Given the description of an element on the screen output the (x, y) to click on. 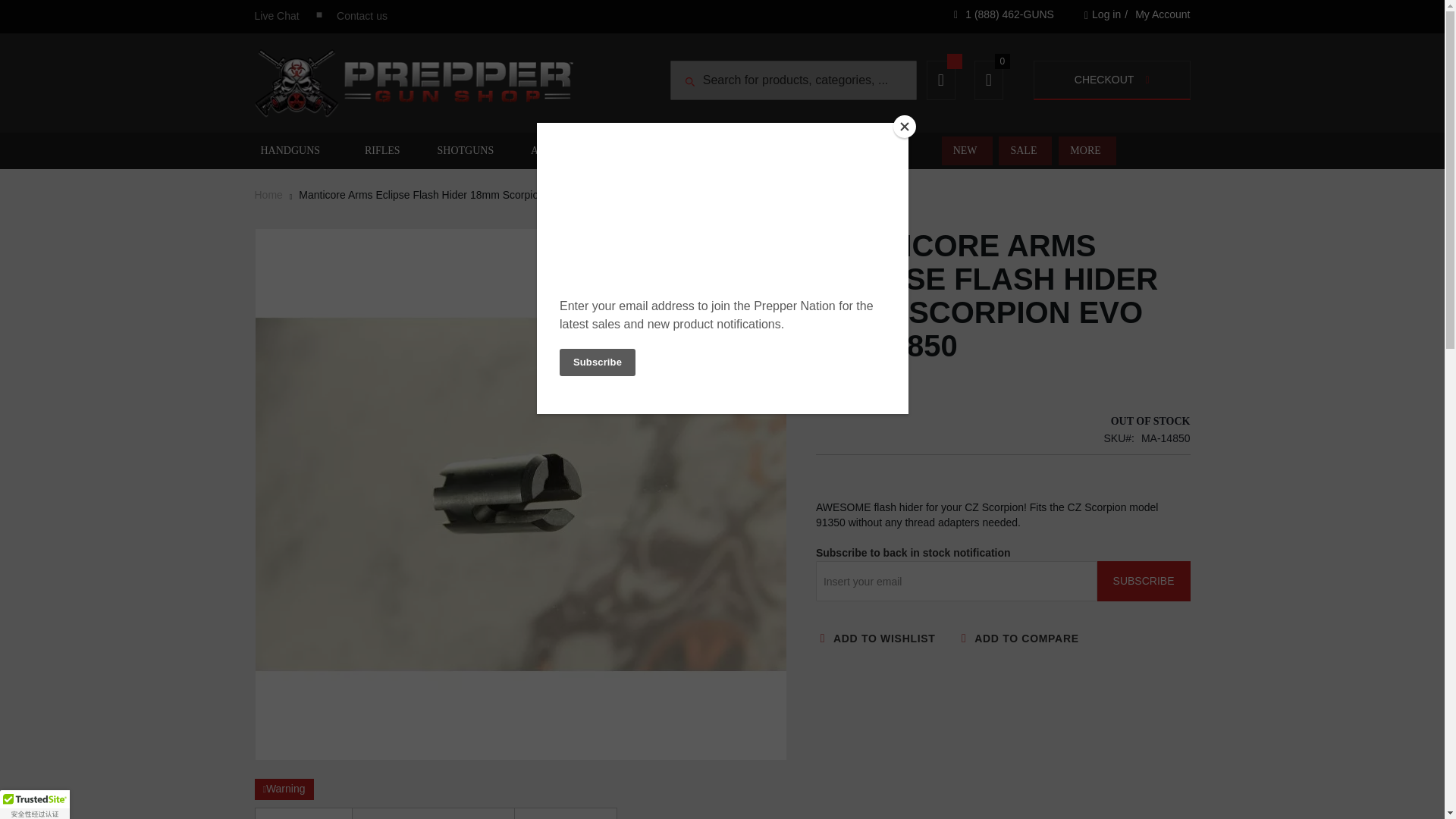
Search (689, 81)
HANDGUNS (291, 150)
RIFLES (383, 150)
Log in (1102, 14)
ACCESSORIES (639, 150)
Checkout (1112, 79)
My Account (1162, 14)
Prepper Gun Shop (413, 83)
TrustedSite Certified (34, 804)
CHECKOUT (1112, 79)
